Given the description of an element on the screen output the (x, y) to click on. 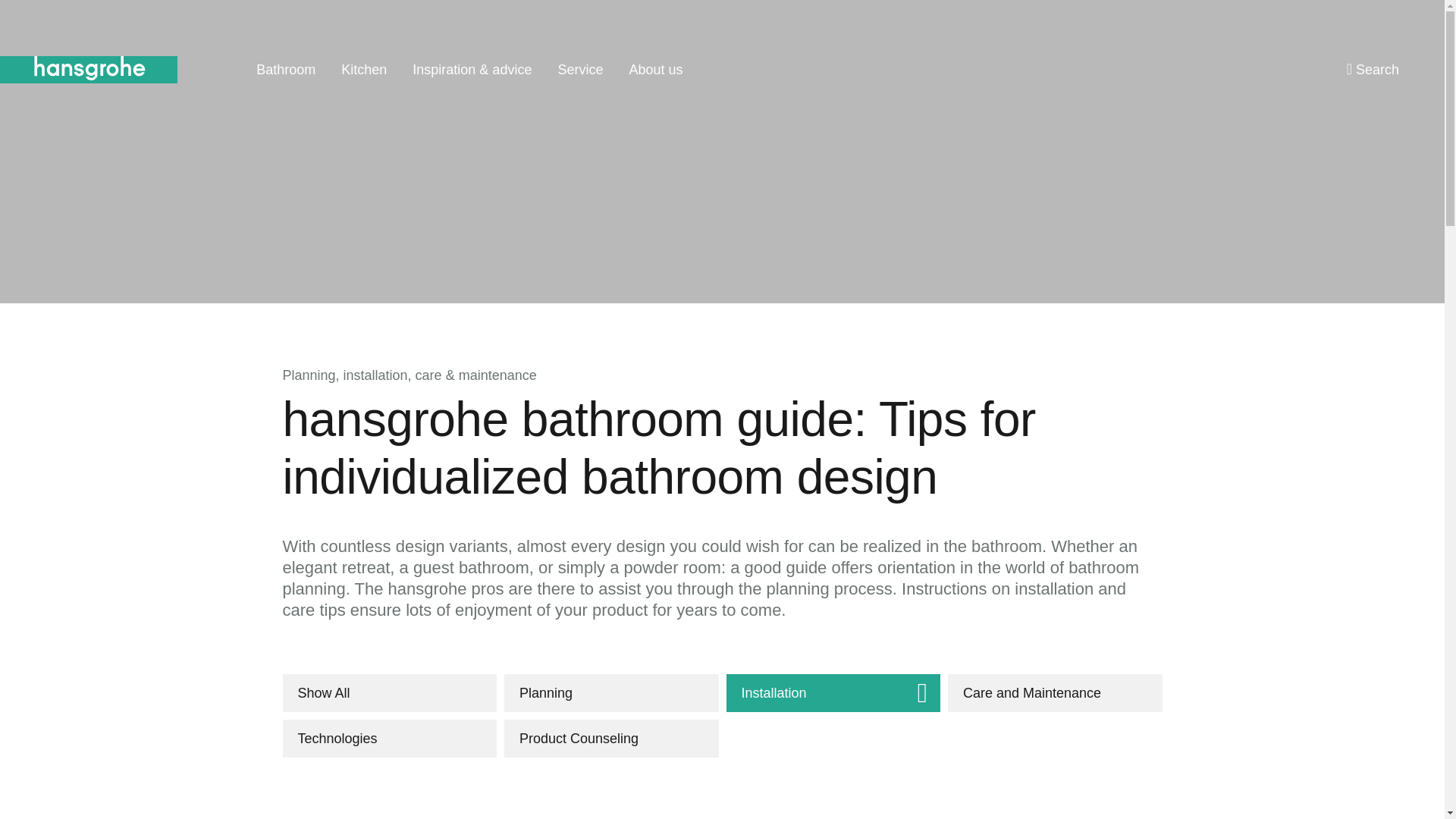
Bathroom (285, 69)
About us (655, 69)
hansgrohe logo (88, 69)
Service (579, 69)
Kitchen (363, 69)
